Given the description of an element on the screen output the (x, y) to click on. 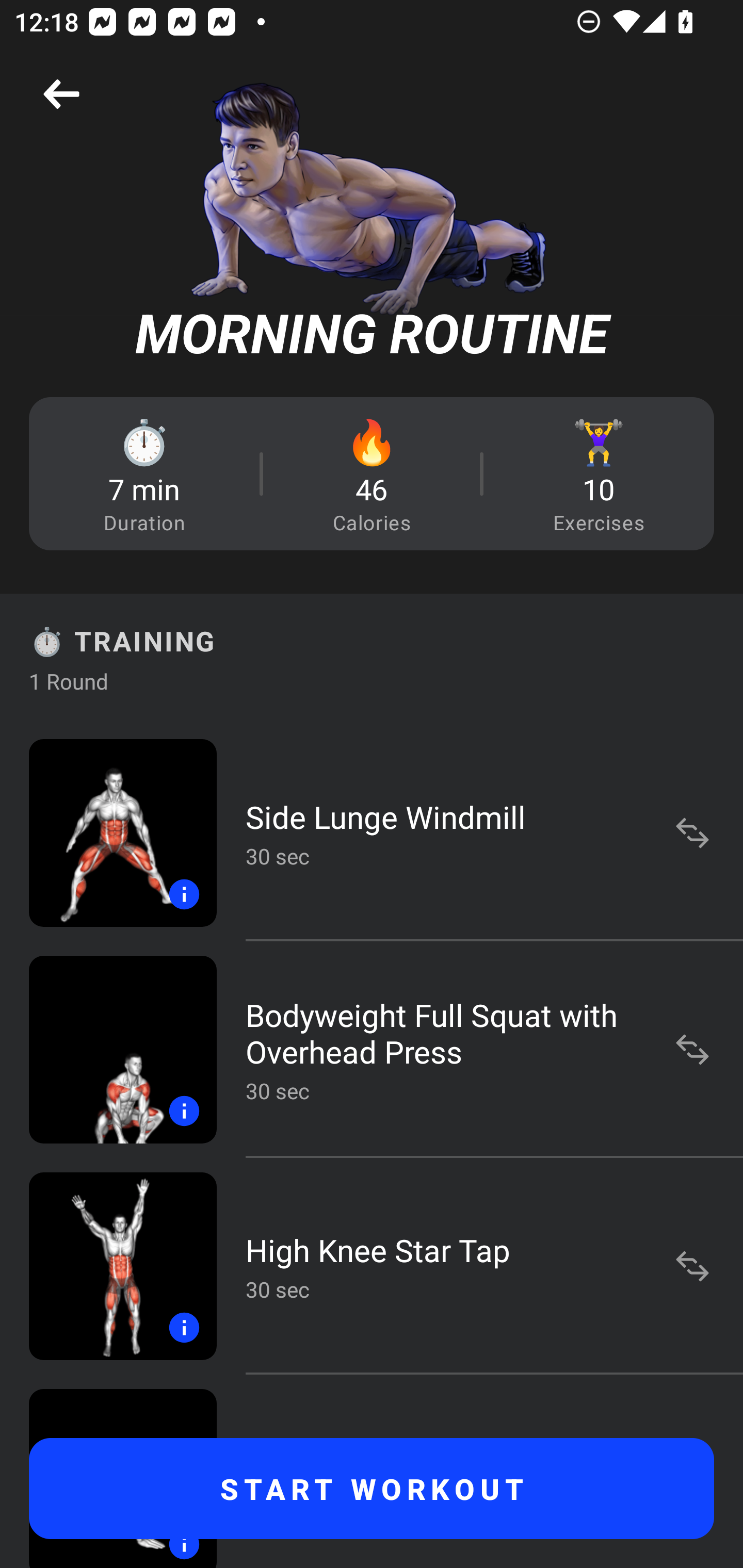
Side Lunge Windmill 30 sec (371, 832)
Bodyweight Full Squat with Overhead Press 30 sec (371, 1048)
High Knee Star Tap 30 sec (371, 1266)
START WORKOUT (371, 1488)
